Given the description of an element on the screen output the (x, y) to click on. 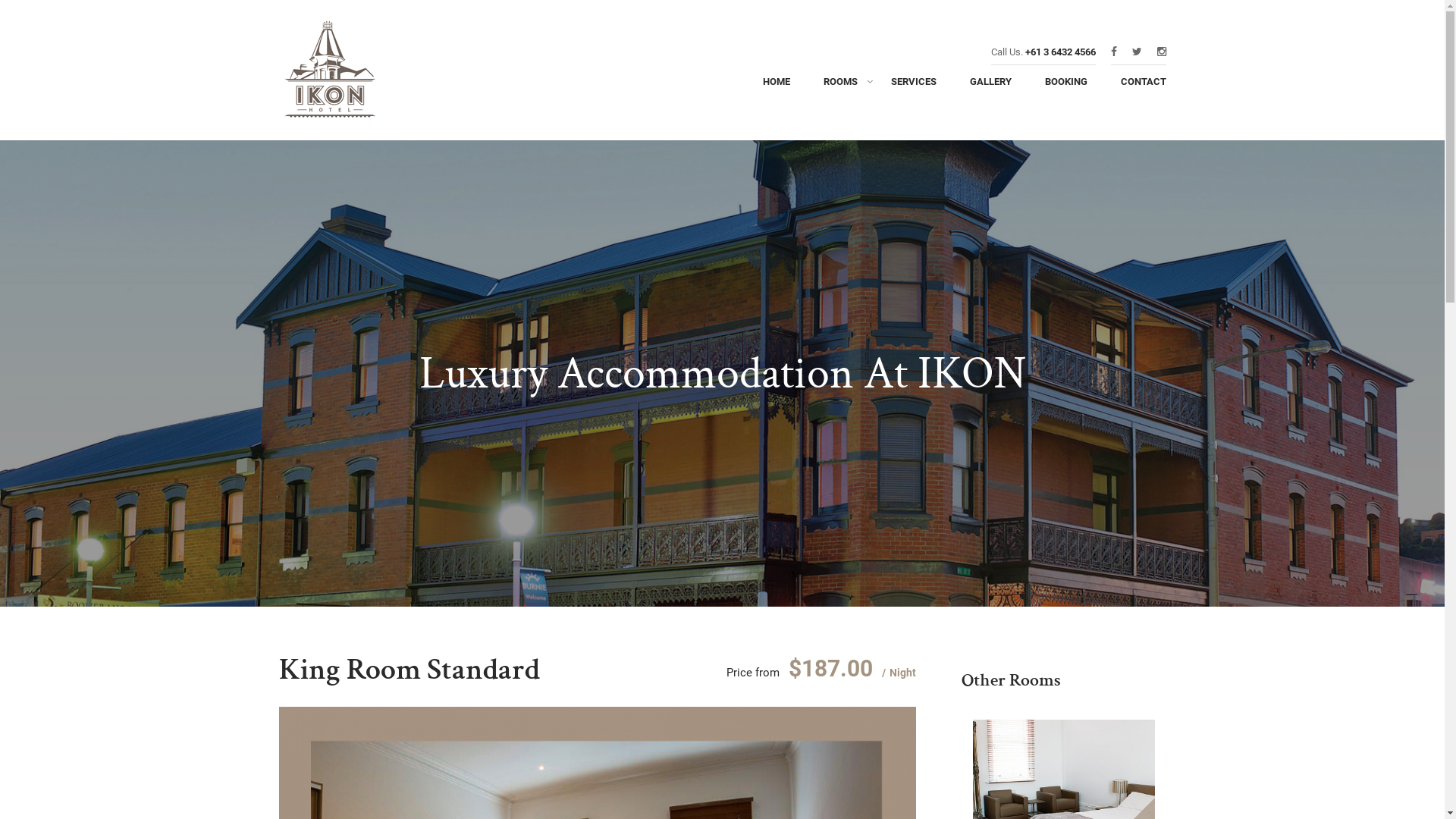
King Room Standard Element type: text (409, 669)
GALLERY Element type: text (989, 85)
SERVICES Element type: text (912, 85)
Ikon Hotel - Luxury Boutique Accommodation Burnie Tasmania Element type: hover (354, 73)
BOOKING Element type: text (1065, 85)
$220.00
Night Element type: text (1063, 809)
HOME Element type: text (776, 85)
+61 3 6432 4566 Element type: text (1060, 51)
ROOMS Element type: text (840, 85)
CONTACT Element type: text (1135, 85)
